Given the description of an element on the screen output the (x, y) to click on. 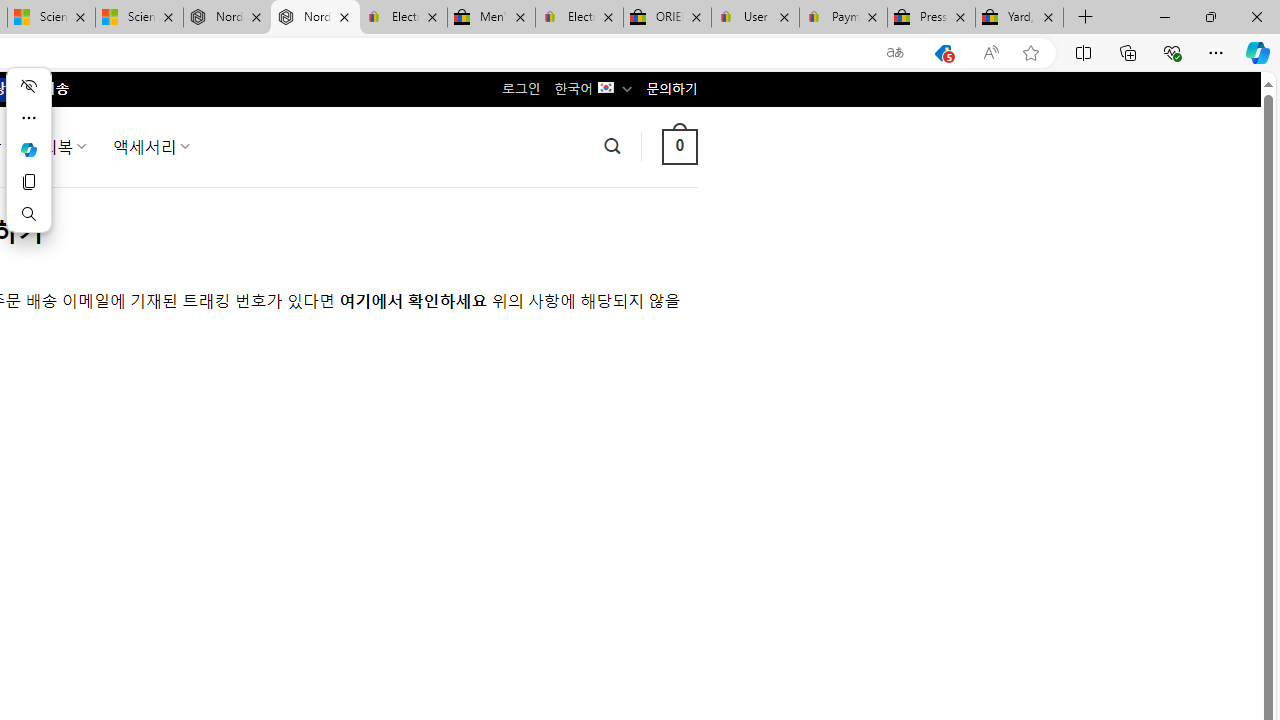
Mini menu on text selection (28, 149)
